Given the description of an element on the screen output the (x, y) to click on. 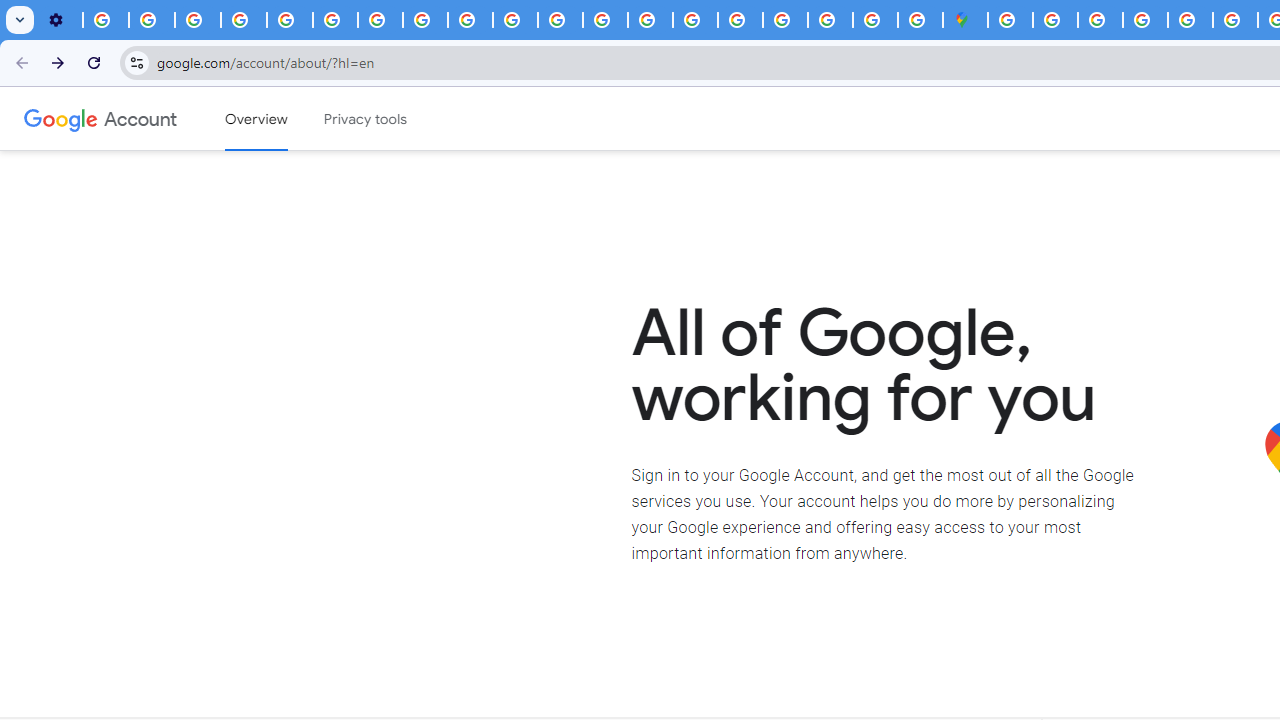
Settings - Customize profile (60, 20)
YouTube (335, 20)
Sign in - Google Accounts (1010, 20)
Sign in - Google Accounts (1055, 20)
https://scholar.google.com/ (559, 20)
Privacy tools (365, 119)
Privacy Help Center - Policies Help (605, 20)
Sign in - Google Accounts (784, 20)
Privacy Checkup (470, 20)
